Given the description of an element on the screen output the (x, y) to click on. 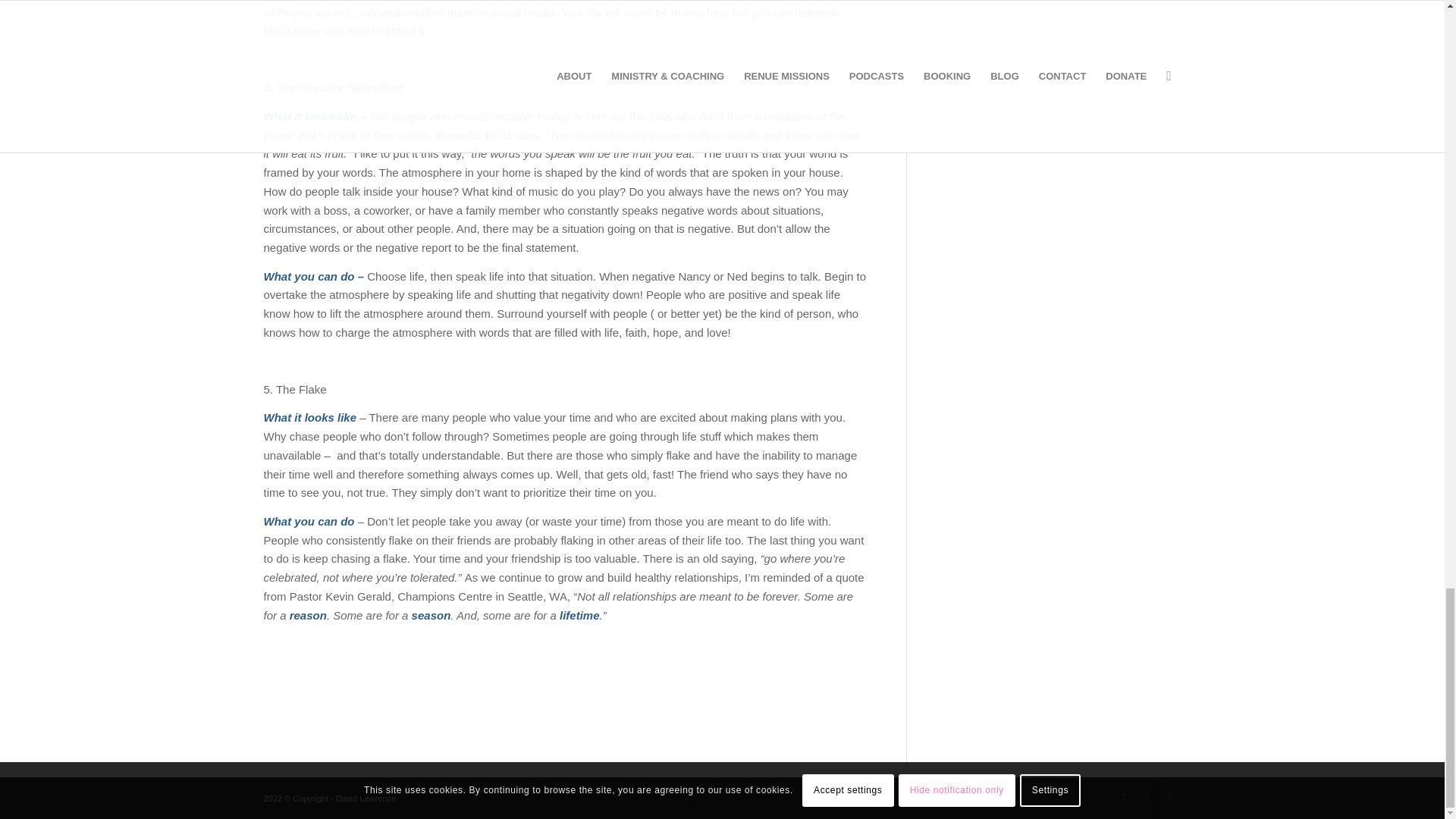
Instagram (1169, 796)
X (1124, 796)
Facebook (1146, 796)
